Given the description of an element on the screen output the (x, y) to click on. 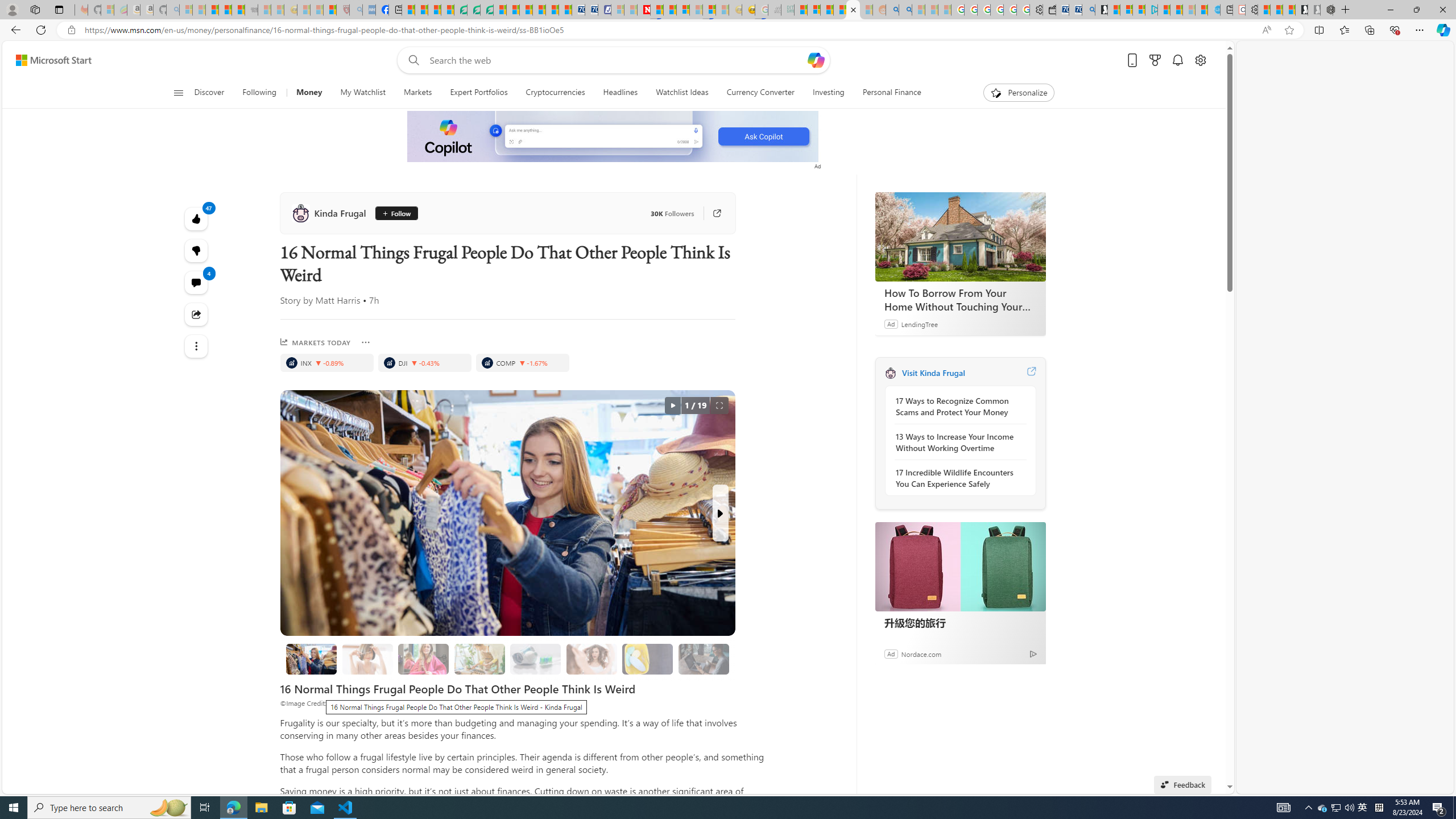
Play Free Online Games | Games from Microsoft Start (1301, 9)
Headlines (620, 92)
47 (196, 250)
Microsoft-Report a Concern to Bing - Sleeping (107, 9)
Dislike (196, 250)
Money (308, 92)
Microsoft account | Privacy (1139, 9)
NCL Adult Asthma Inhaler Choice Guideline - Sleeping (369, 9)
Kinda Frugal (889, 372)
